Given the description of an element on the screen output the (x, y) to click on. 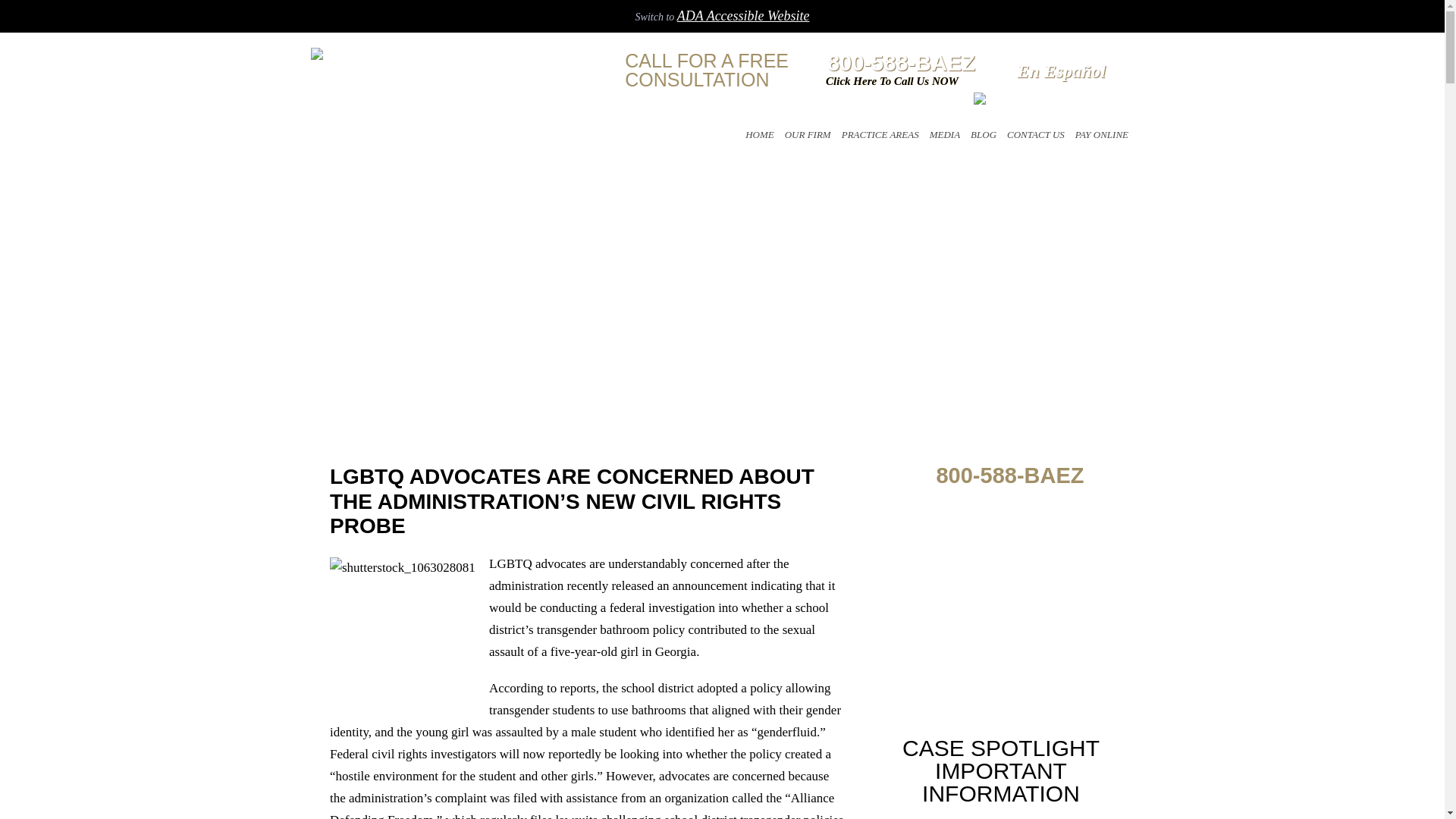
PRACTICE AREAS (879, 134)
OUR FIRM (806, 134)
HOME (758, 134)
ADA Accessible Website (743, 15)
800-588-BAEZ (892, 64)
Click Here To Call Us NOW (891, 81)
